Given the description of an element on the screen output the (x, y) to click on. 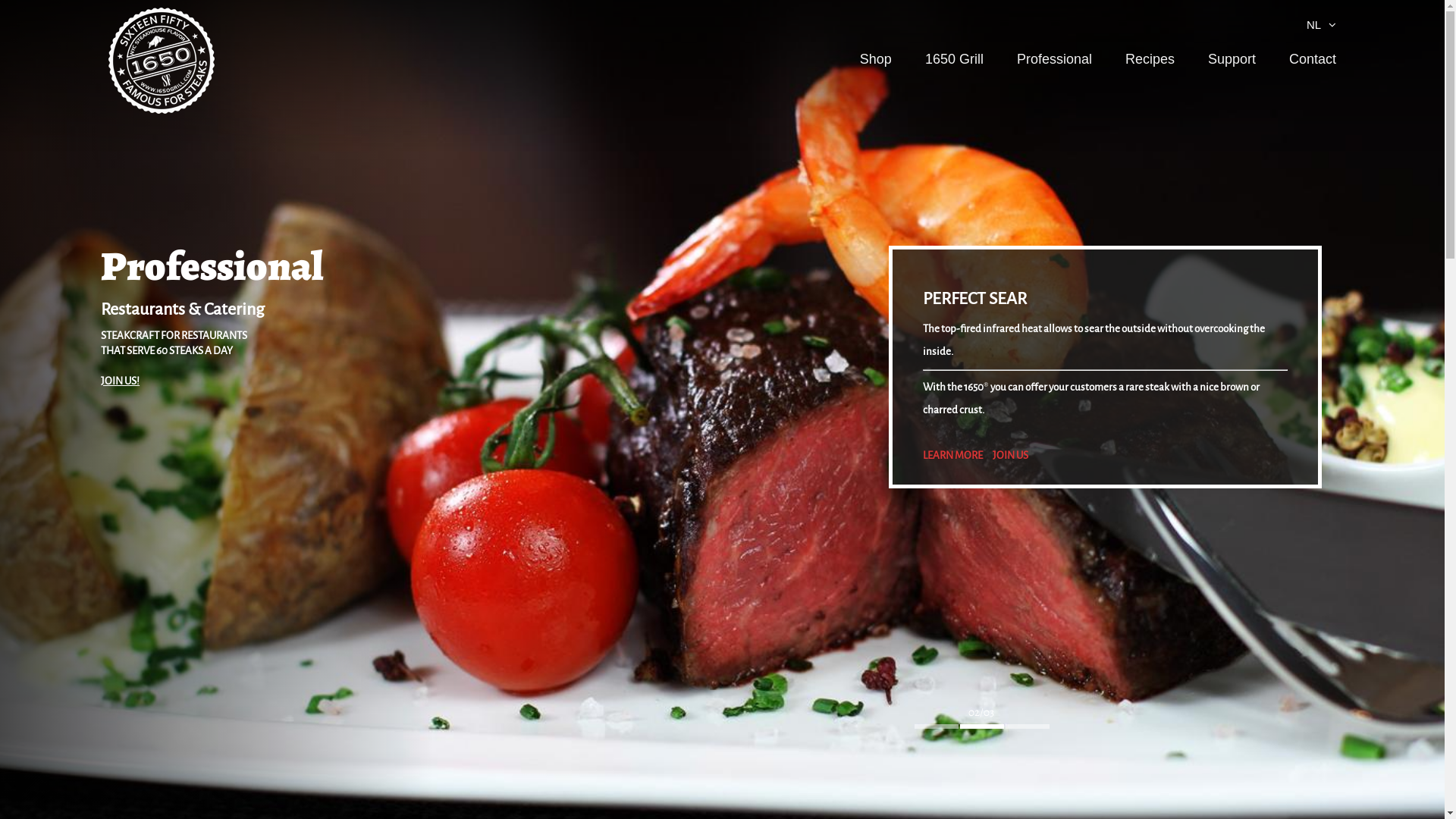
JOIN US Element type: text (1009, 455)
Professional Element type: text (1054, 58)
JOIN US! Element type: text (119, 380)
01/03 Element type: text (936, 720)
Shop Element type: text (875, 58)
LEARN MORE Element type: text (952, 455)
Recipes Element type: text (1149, 58)
Contact Element type: text (1312, 58)
1650 Grill Element type: text (954, 58)
Support Element type: text (1231, 58)
